Given the description of an element on the screen output the (x, y) to click on. 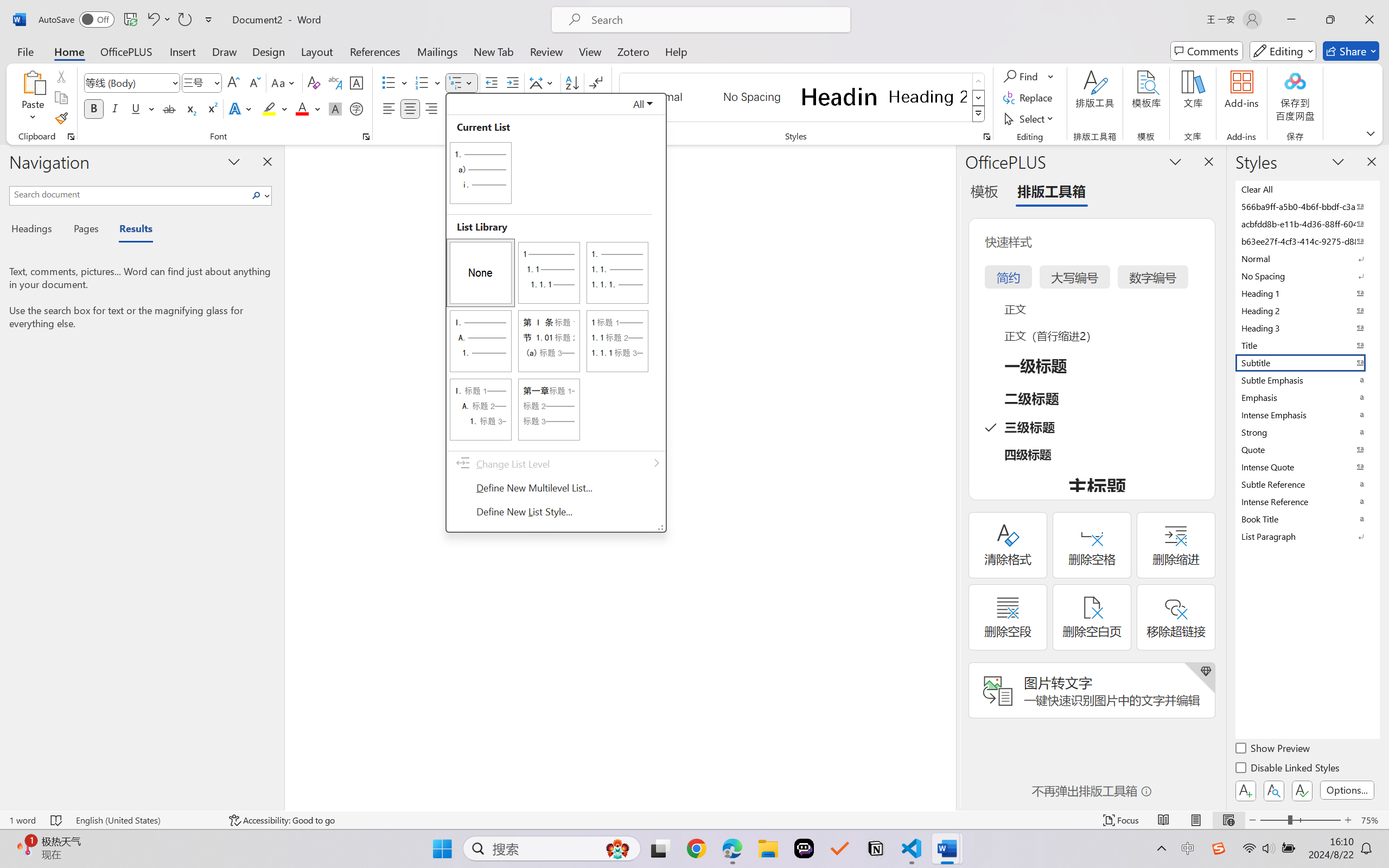
AutoSave (76, 19)
Align Right (431, 108)
Spelling and Grammar Check No Errors (56, 819)
No Spacing (1306, 275)
Intense Emphasis (1306, 414)
Cut (60, 75)
Accessibility Checker Accessibility: Good to go (282, 819)
